Given the description of an element on the screen output the (x, y) to click on. 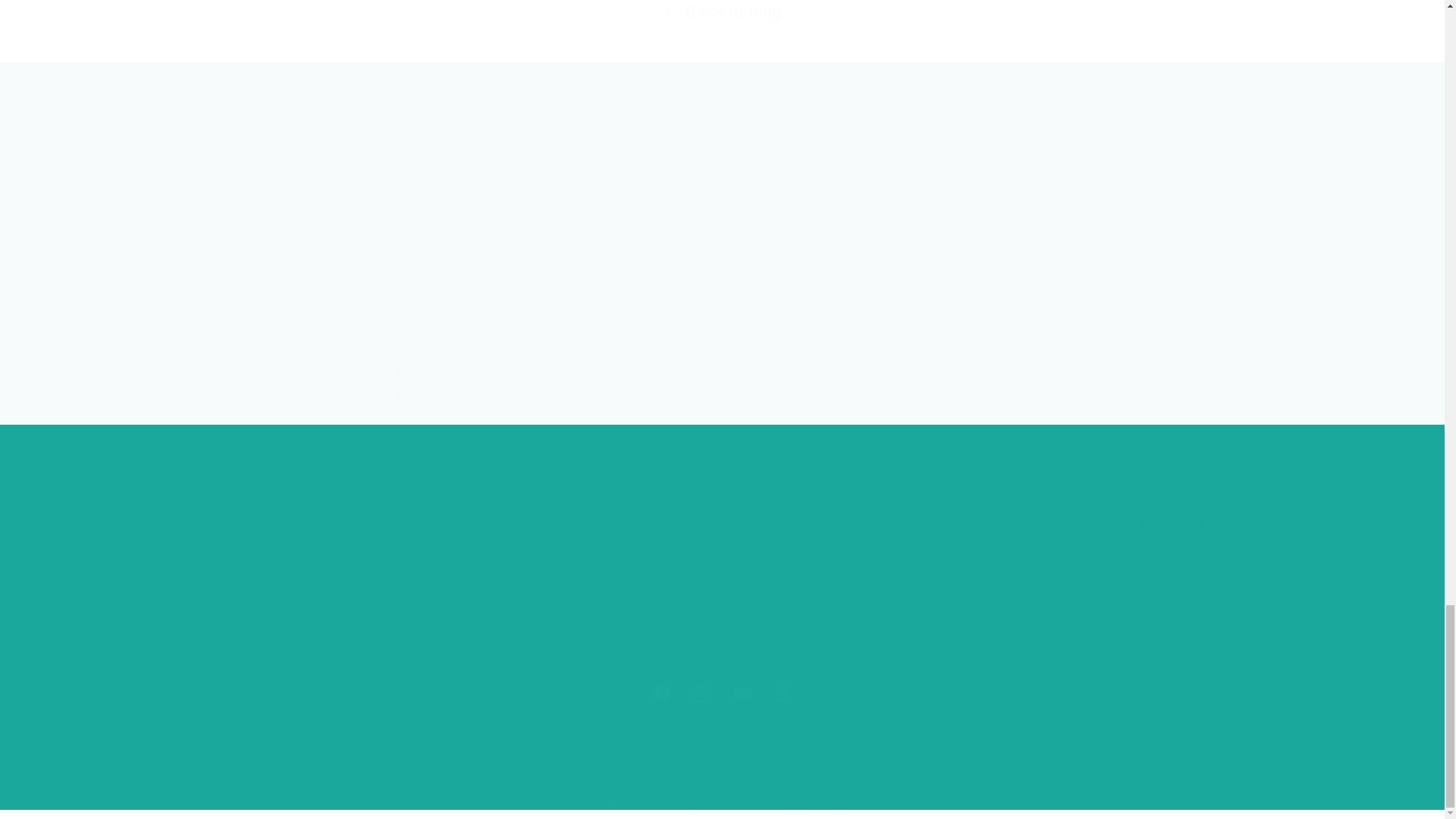
FAQ (444, 589)
Home (448, 530)
Privacy Policy (173, 589)
Refund Policy (173, 619)
Post comment (467, 384)
Post comment (467, 384)
Subscription Policy (189, 649)
Search (722, 694)
